Given the description of an element on the screen output the (x, y) to click on. 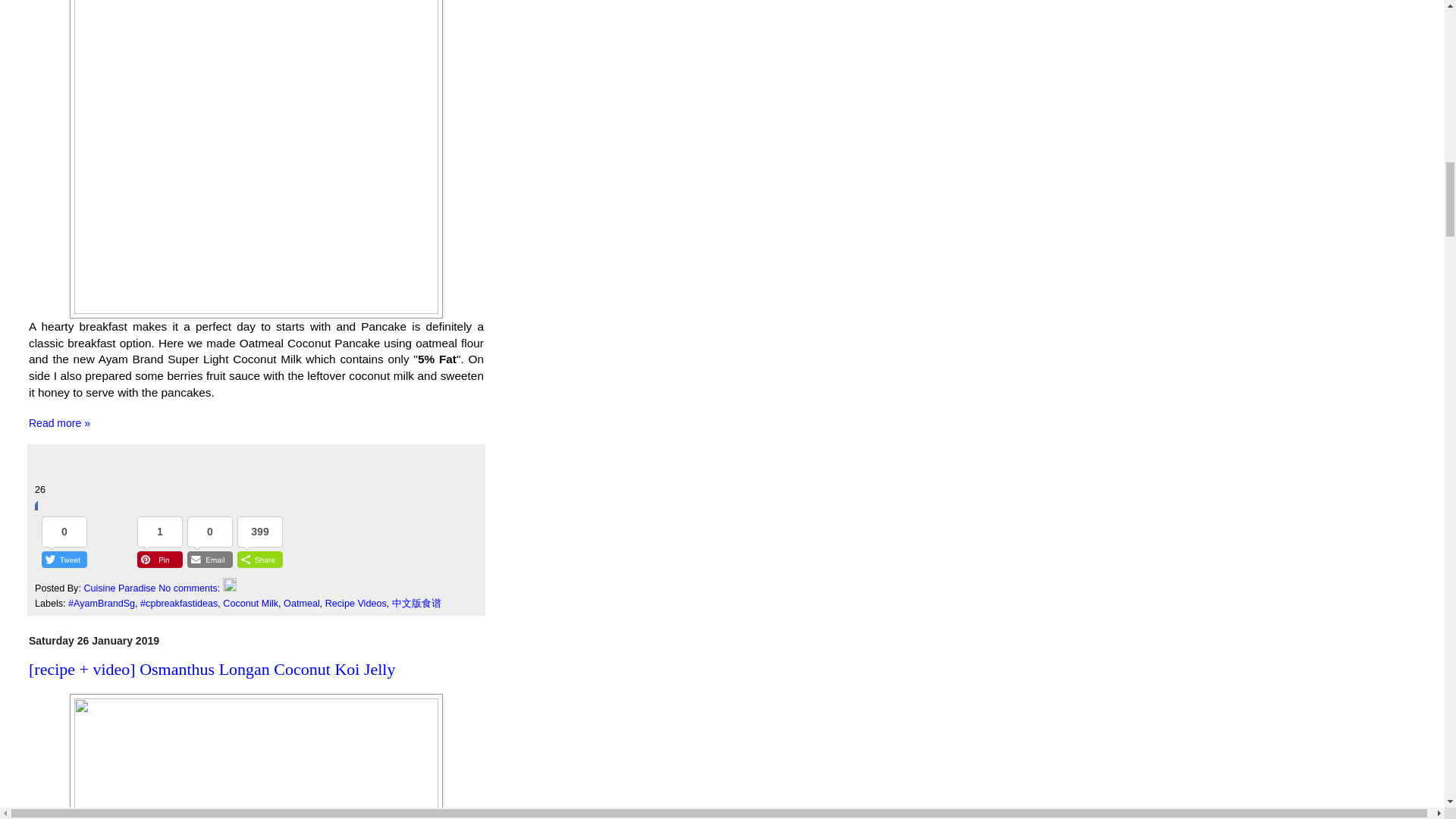
Recipe Videos (355, 603)
Cuisine Paradise (120, 588)
Coconut Milk (250, 603)
Edit Post (228, 588)
No comments: (190, 588)
author profile (120, 588)
Oatmeal (301, 603)
